Given the description of an element on the screen output the (x, y) to click on. 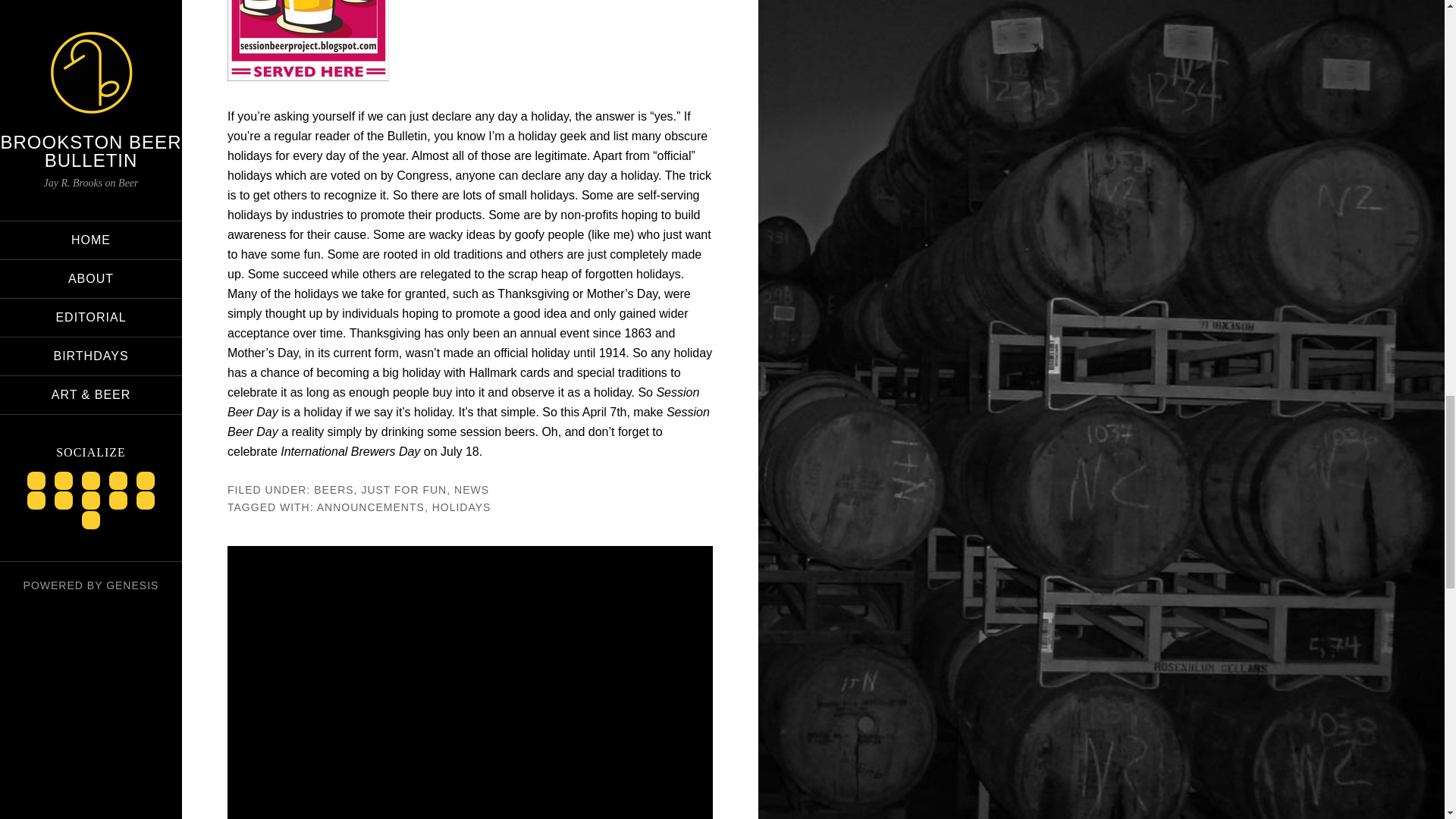
BEERS (333, 490)
ANNOUNCEMENTS (371, 506)
JUST FOR FUN (403, 490)
NEWS (471, 490)
HOLIDAYS (462, 506)
